Given the description of an element on the screen output the (x, y) to click on. 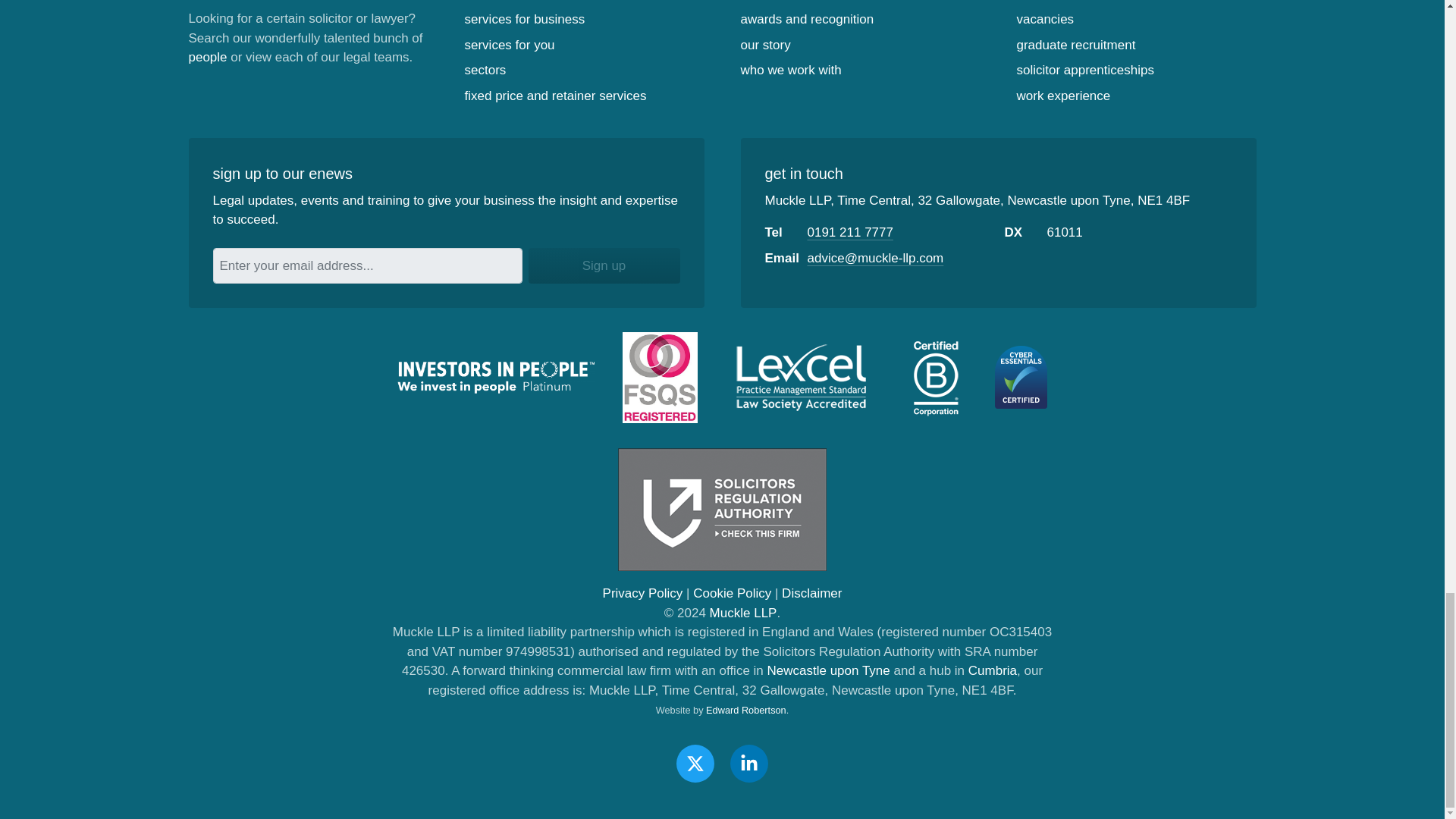
Visit our Linkedin (749, 763)
Visit our Twitter (695, 763)
